Given the description of an element on the screen output the (x, y) to click on. 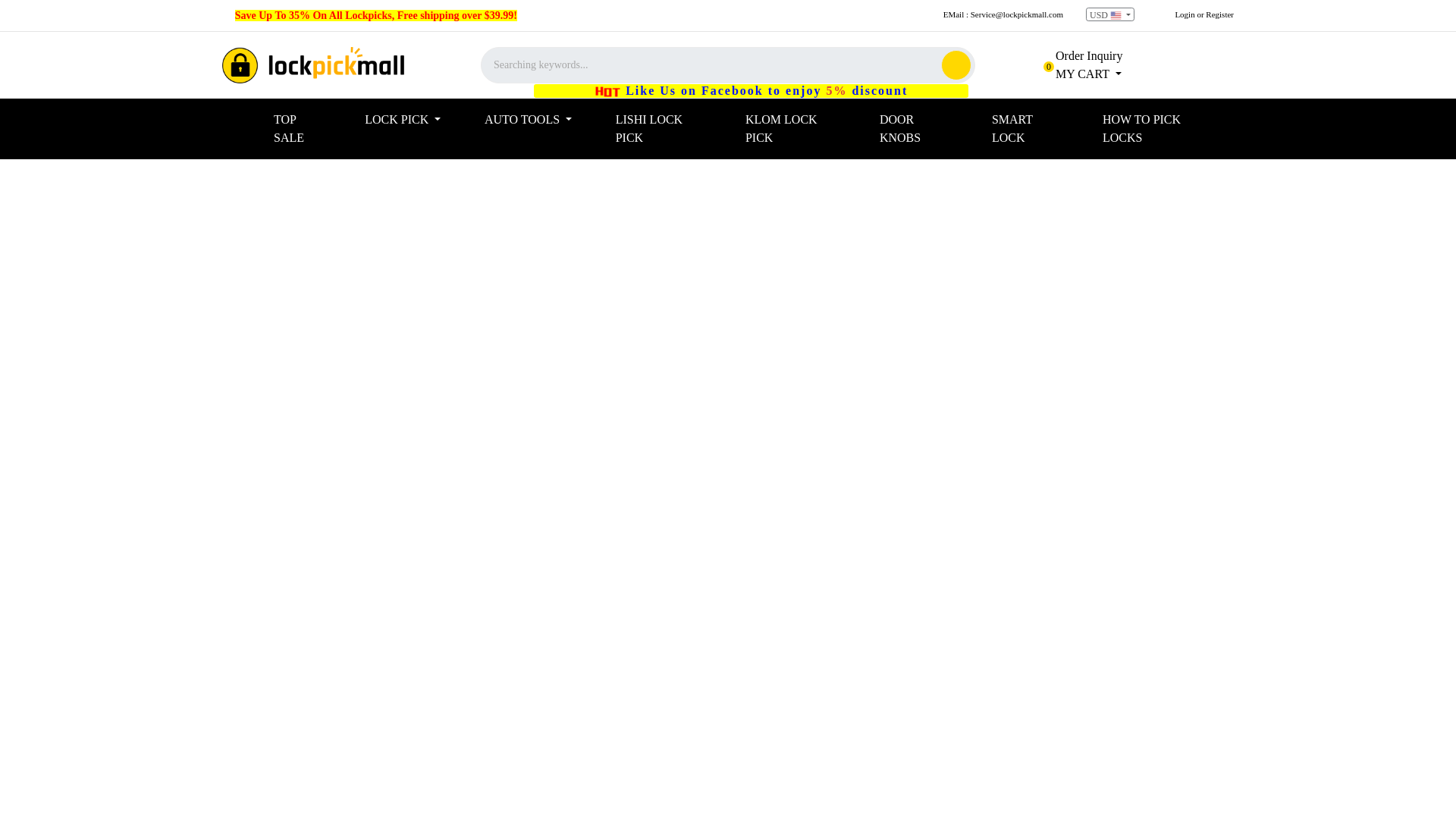
TOP SALE (312, 128)
Login (1183, 13)
AUTO TOOLS (544, 119)
Lock Pick Set (313, 64)
Order Inquiry (1078, 55)
KLOM LOCK PICK (806, 128)
Register (1219, 13)
LOCK PICK (418, 119)
USD (1110, 14)
LISHI LOCK PICK (1078, 73)
